Given the description of an element on the screen output the (x, y) to click on. 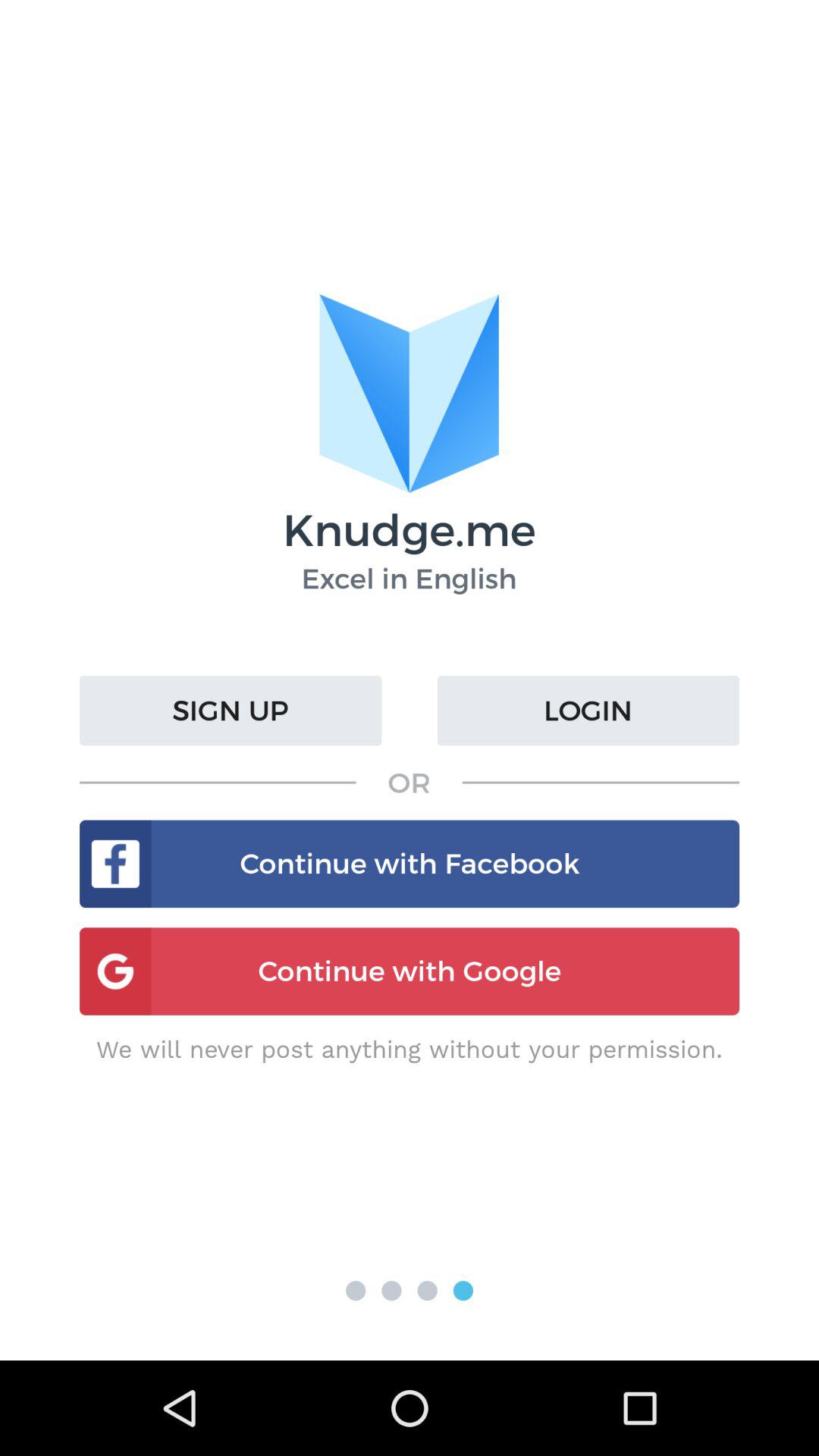
tap the sign up item (230, 710)
